Given the description of an element on the screen output the (x, y) to click on. 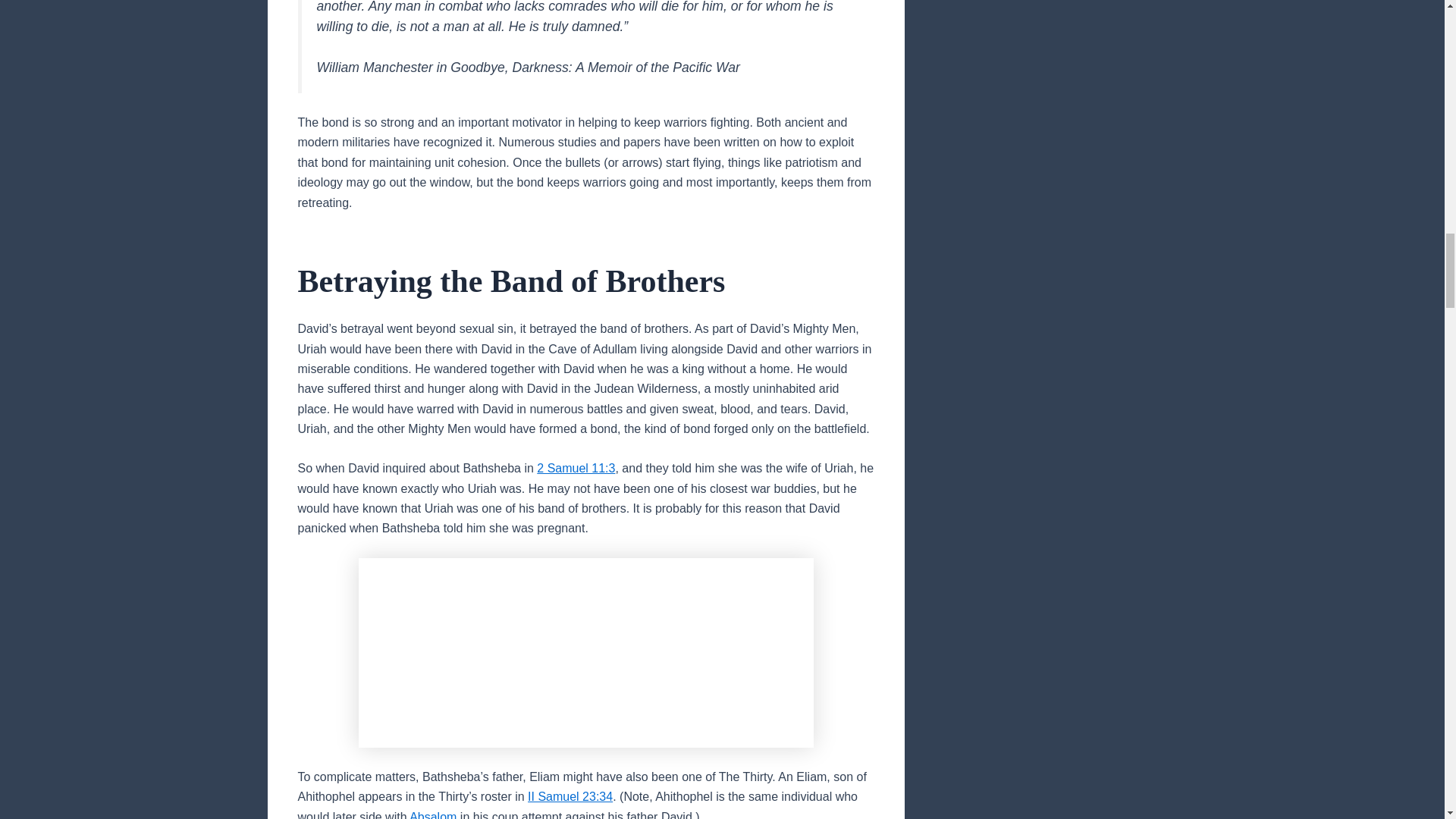
2 Samuel 11:3 (575, 468)
Absalom (433, 814)
II Samuel 23:34 (569, 796)
